Given the description of an element on the screen output the (x, y) to click on. 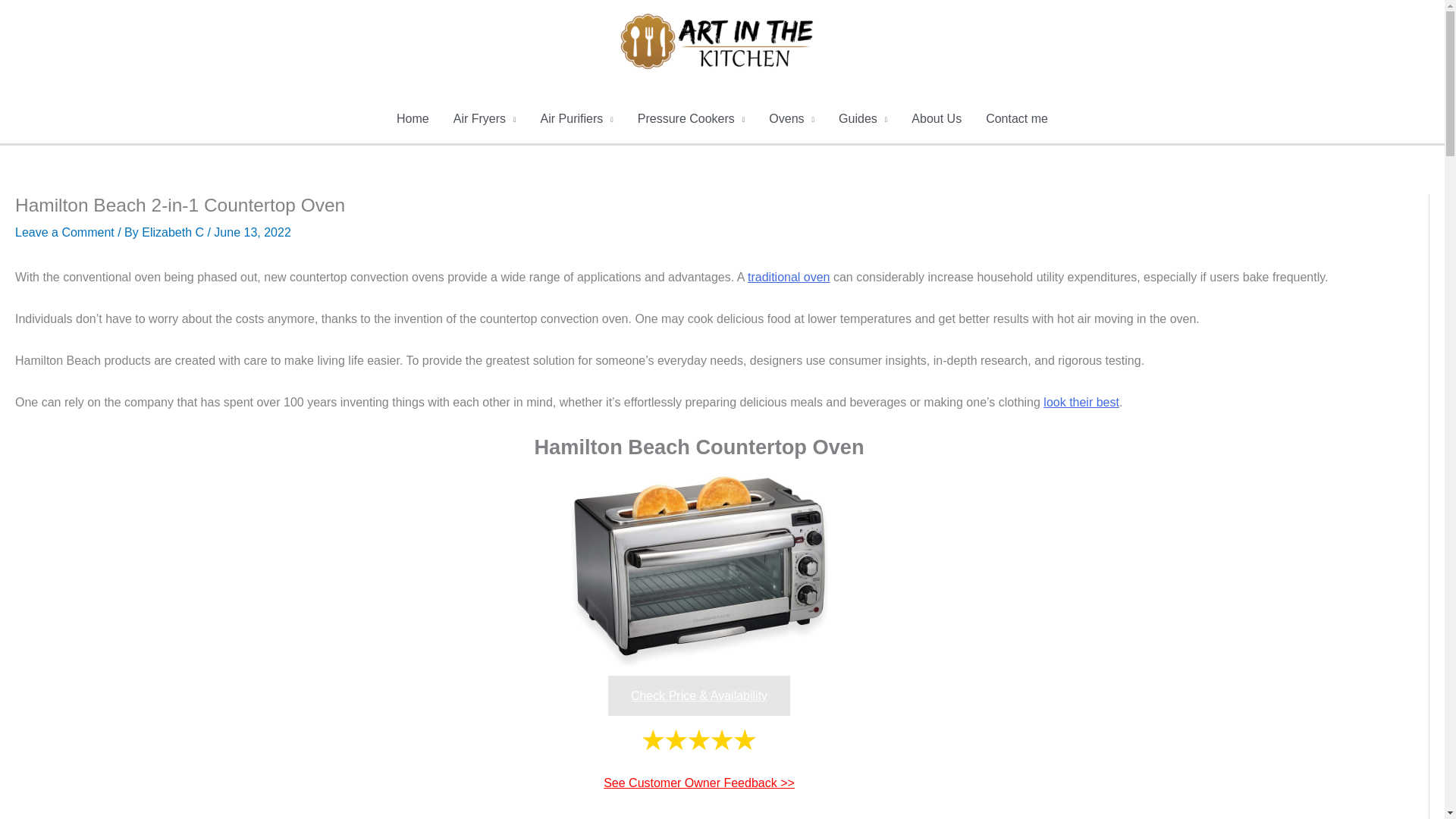
Air Fryers (484, 119)
View all posts by Elizabeth C (173, 232)
Leave a Comment (64, 232)
Air Purifiers (577, 119)
look their best (1081, 401)
Pressure Cookers (691, 119)
Contact me (1016, 119)
traditional oven (788, 277)
About Us (936, 119)
Ovens (792, 119)
Home (412, 119)
Elizabeth C (173, 232)
Guides (863, 119)
